Given the description of an element on the screen output the (x, y) to click on. 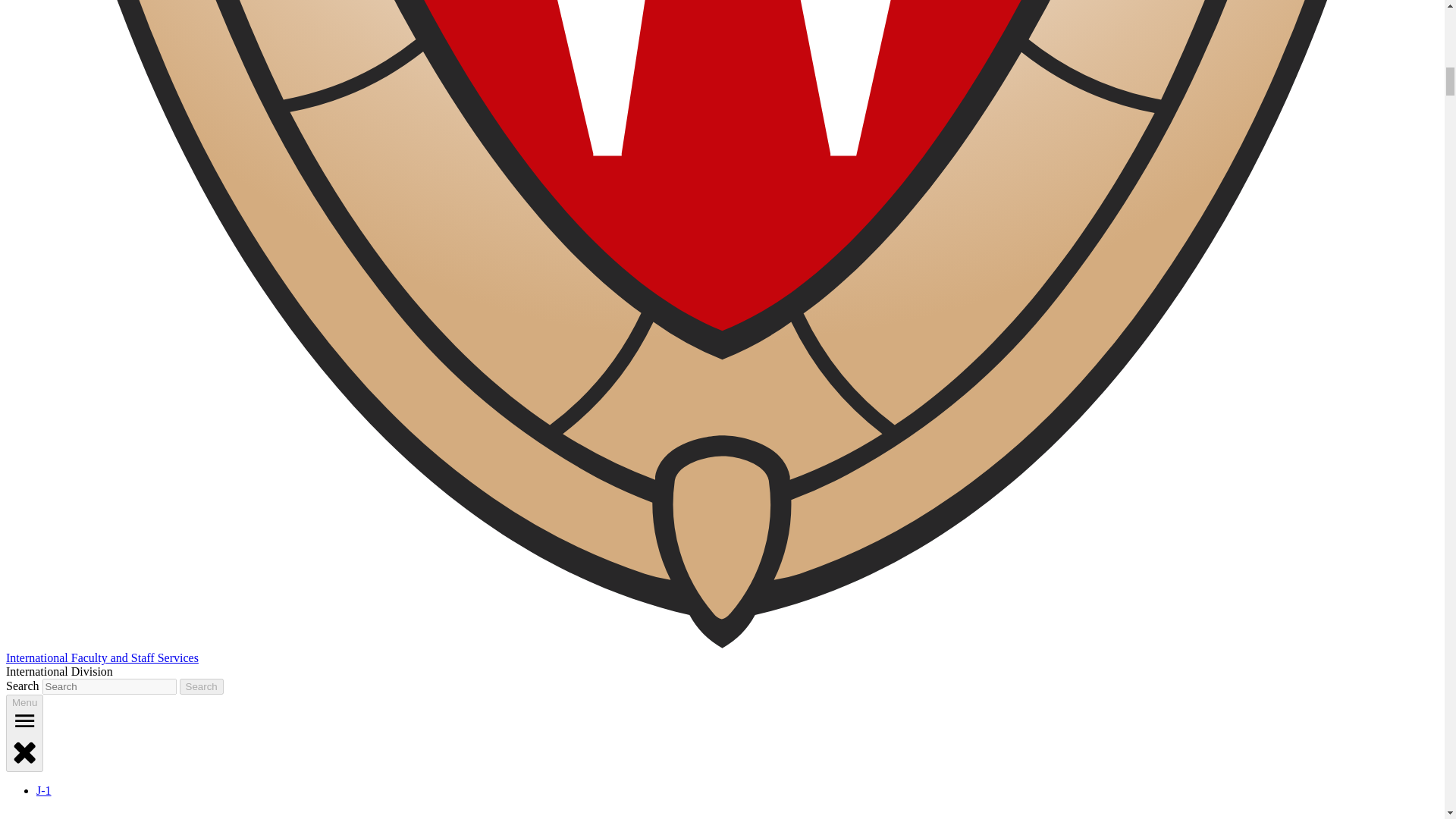
Search (201, 686)
Search (201, 686)
open menu (24, 720)
Menu open menu close (24, 733)
close (24, 751)
Search (201, 686)
International Faculty and Staff Services (101, 657)
